Given the description of an element on the screen output the (x, y) to click on. 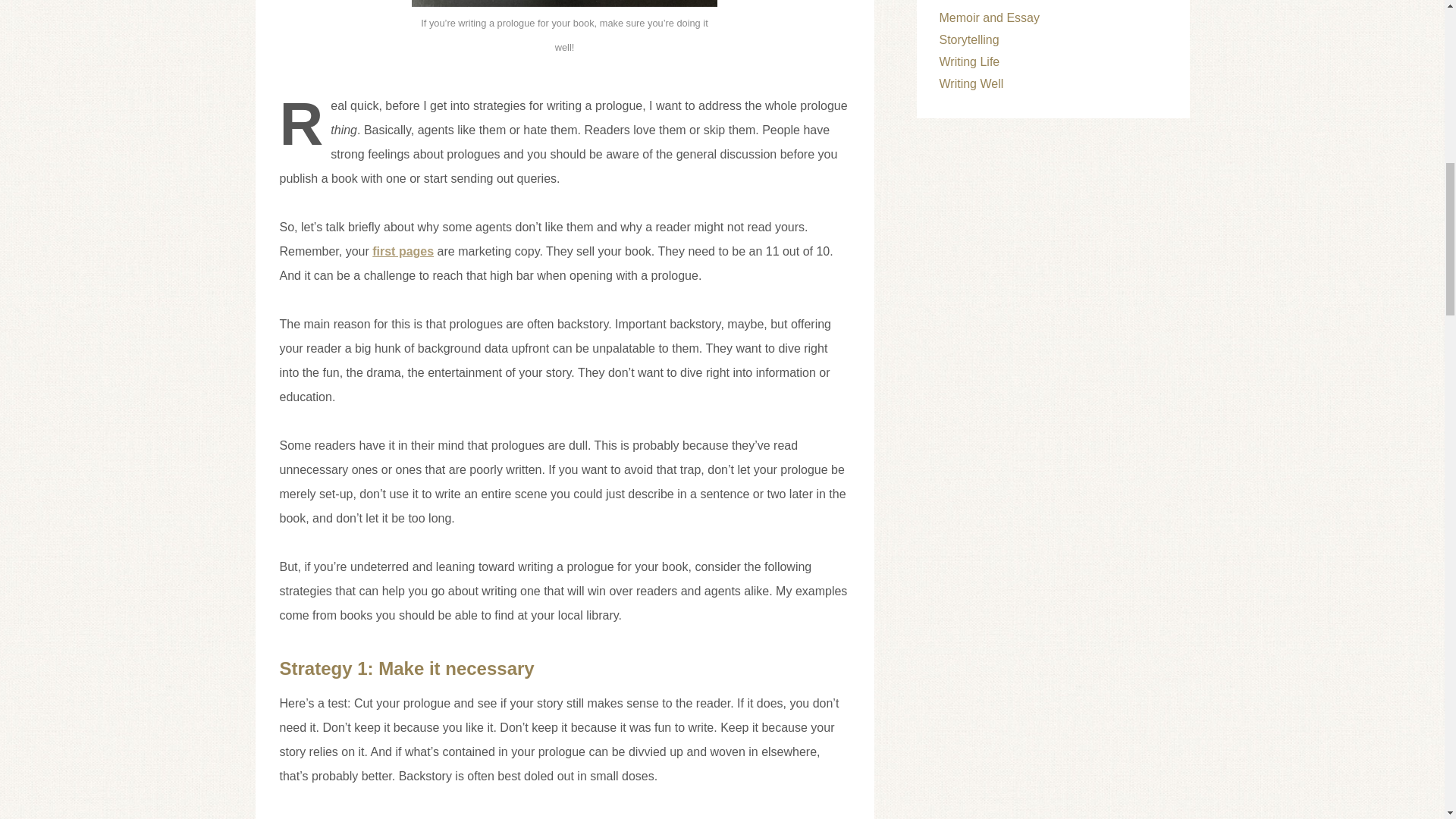
first pages (402, 250)
